Given the description of an element on the screen output the (x, y) to click on. 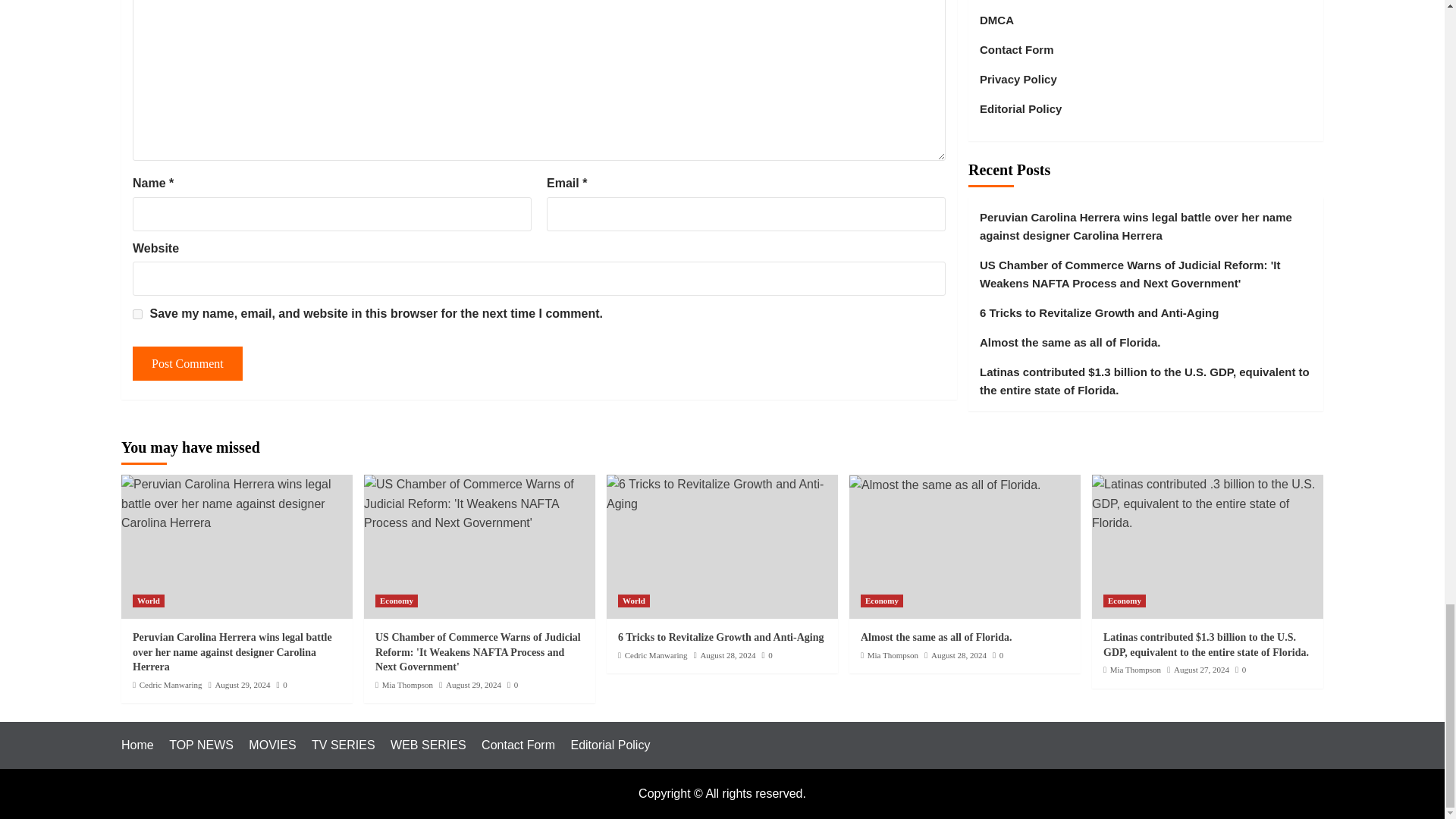
Almost the same as all of Florida. (944, 485)
6 Tricks to Revitalize Growth and Anti-Aging (722, 494)
Post Comment (187, 363)
yes (137, 314)
